Given the description of an element on the screen output the (x, y) to click on. 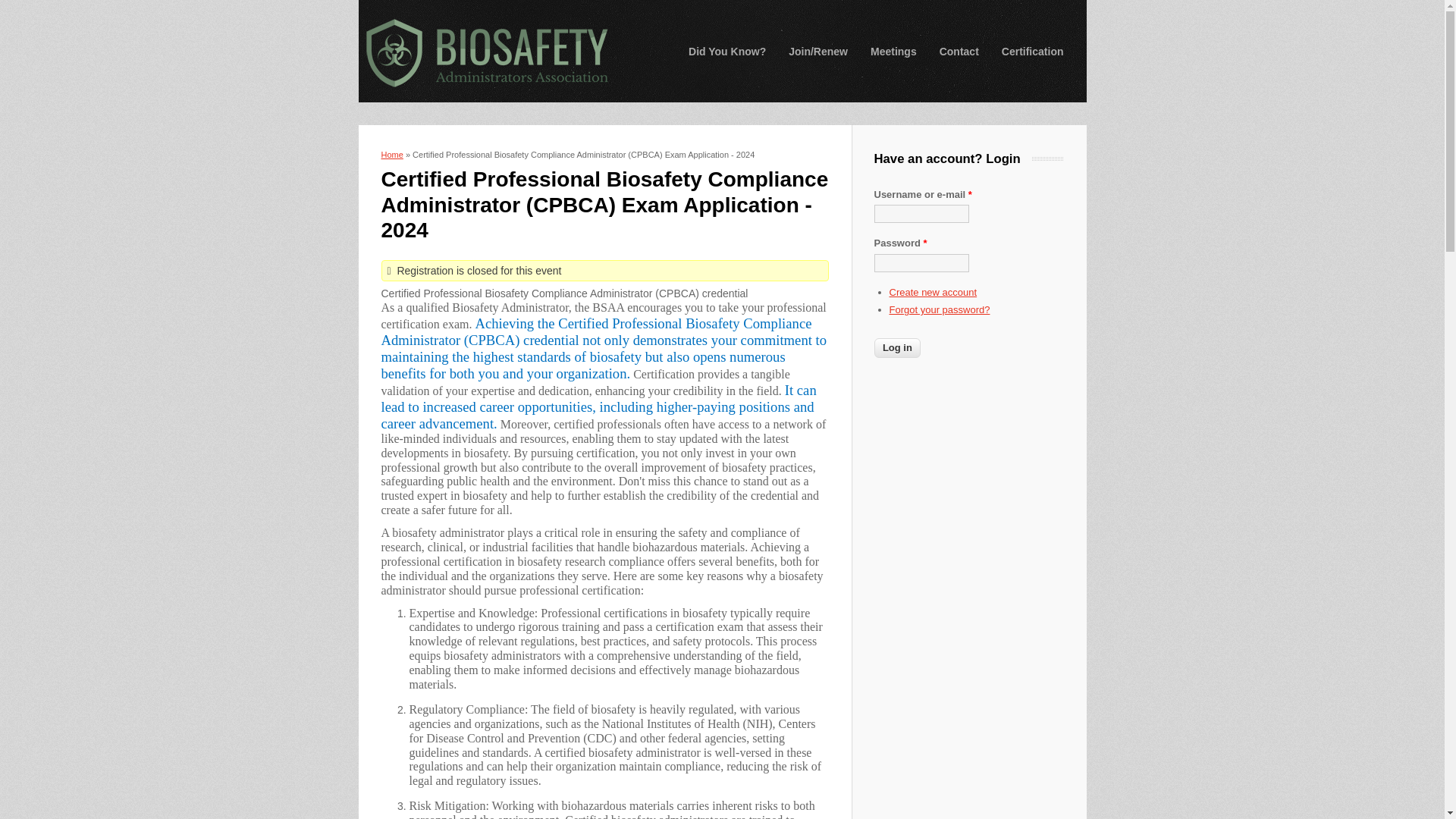
Home (486, 52)
Forgot your password? (939, 309)
Meetings (893, 51)
Log in (896, 347)
Create a new user account. (932, 292)
Contact (959, 51)
Did You Know? (727, 51)
Certification (1032, 51)
Create new account (932, 292)
Home (391, 153)
Request new password via e-mail. (939, 309)
Log in (896, 347)
